Given the description of an element on the screen output the (x, y) to click on. 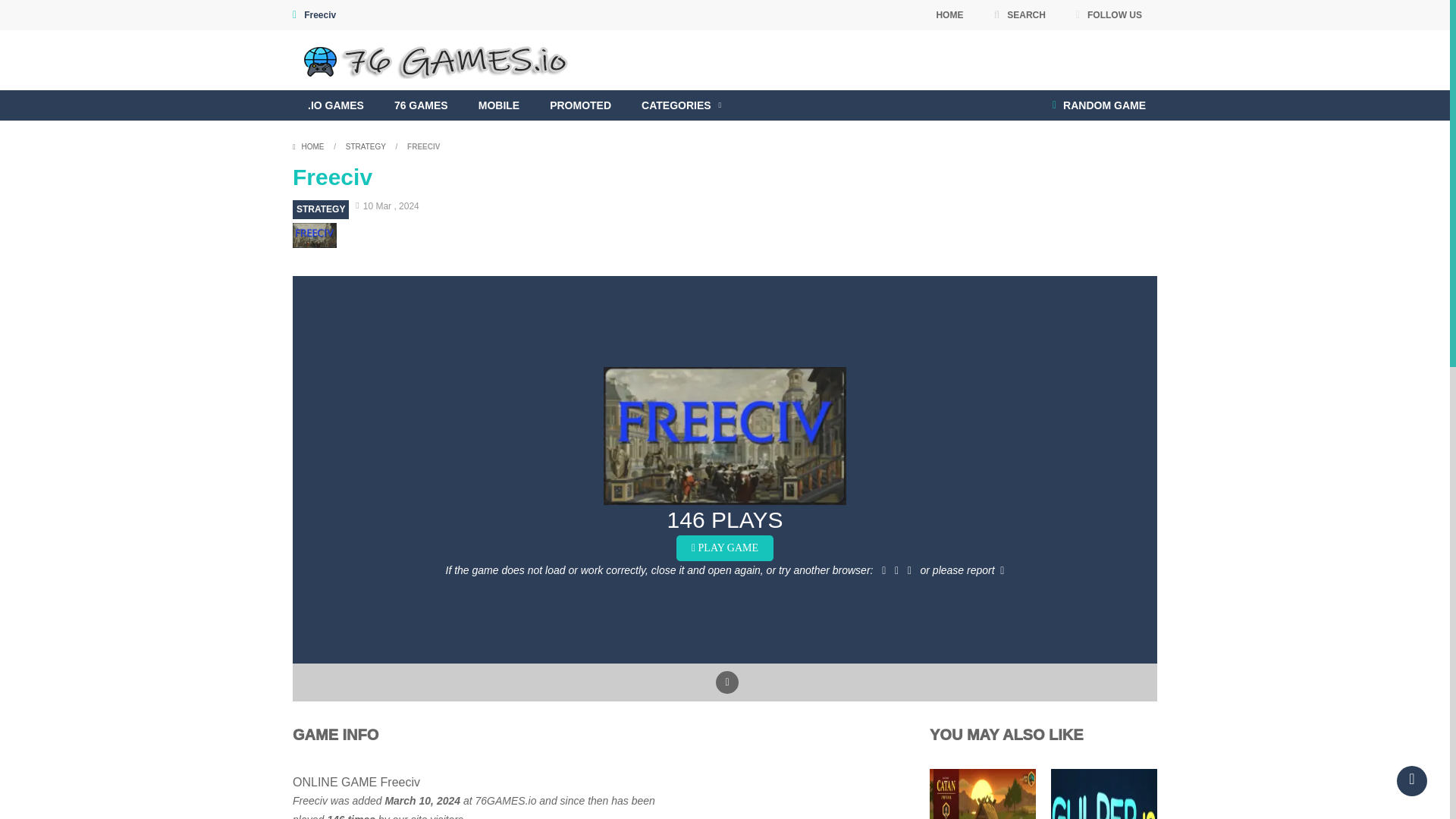
Home (309, 146)
76GAMES (439, 59)
CATEGORIES (681, 105)
STRATEGY (320, 209)
HOME (949, 15)
76GAMES (439, 59)
STRATEGY (365, 146)
.IO GAMES (335, 105)
76 GAMES (420, 105)
MOBILE (498, 105)
